Given the description of an element on the screen output the (x, y) to click on. 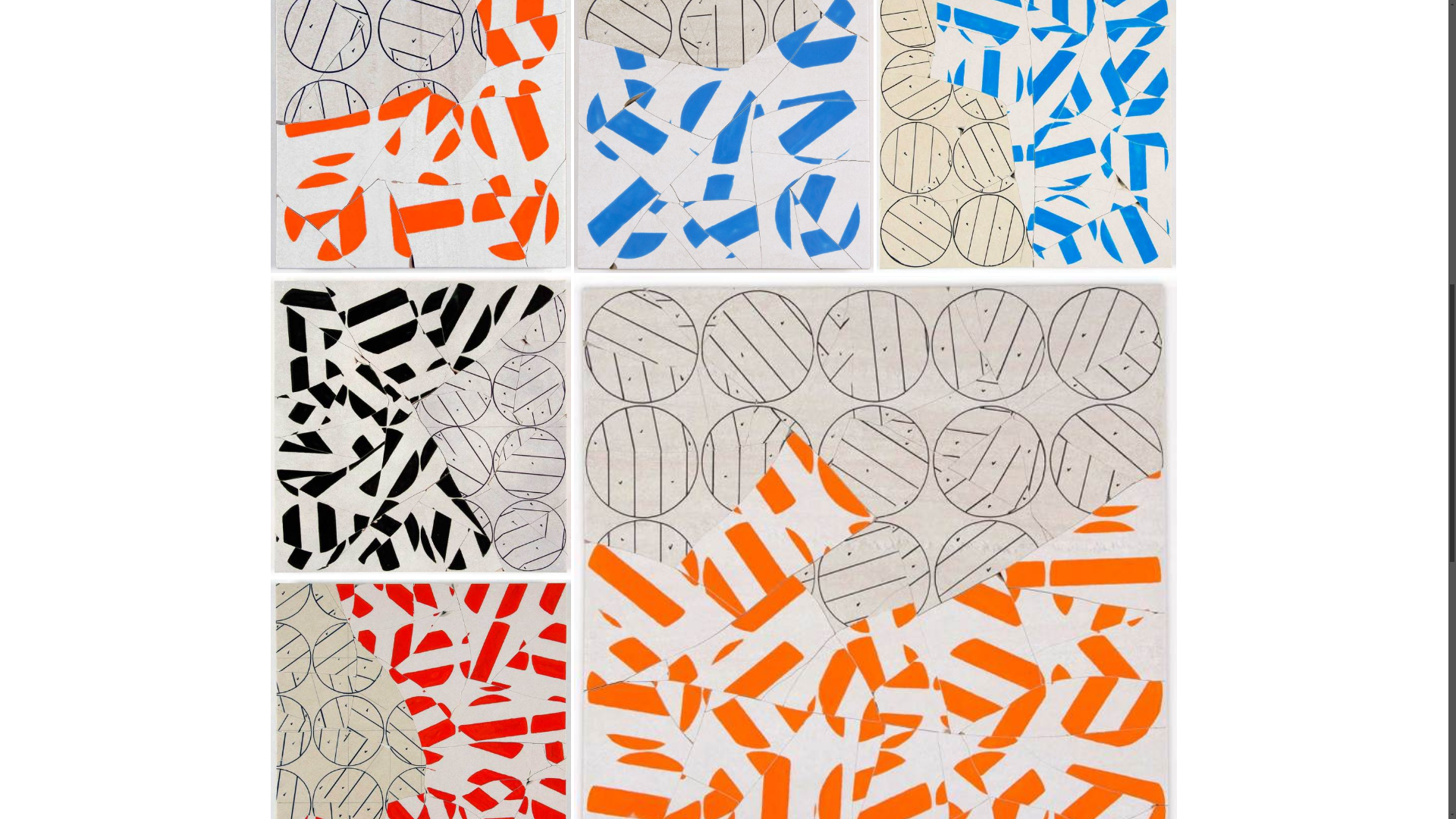
18 x 18 inches (420, 728)
18 x 18 inches (1026, 122)
Score and Performance Series: Orange (420, 136)
Score and Performance Series: Black (420, 426)
Score and Performance Series: Blue (1026, 136)
12 x 12 inches (420, 122)
18 x 18 inches (420, 426)
Score and Performance Series: Blue (723, 136)
12 x 12 inches (723, 122)
